Given the description of an element on the screen output the (x, y) to click on. 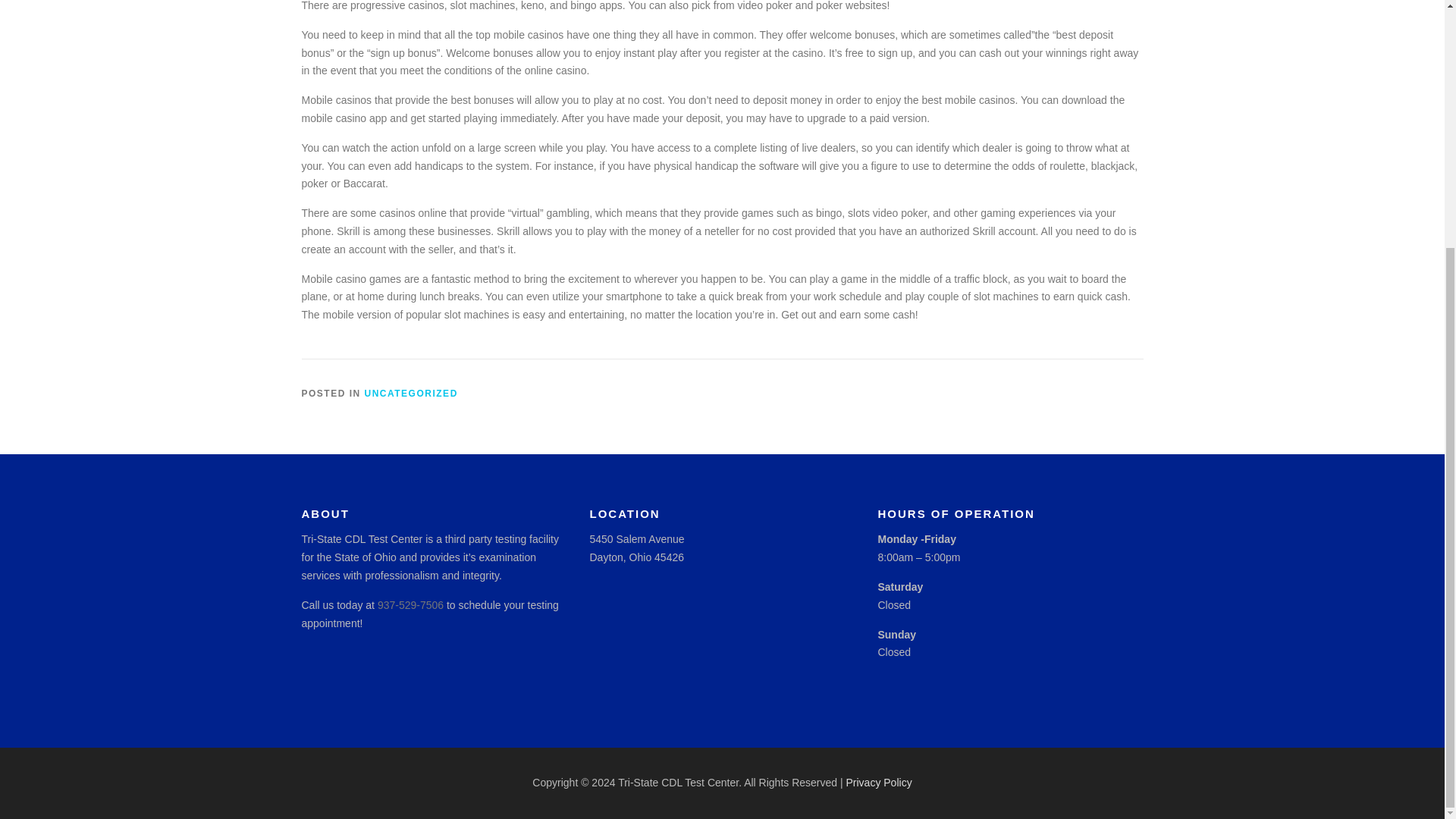
Privacy Policy (878, 782)
UNCATEGORIZED (411, 393)
937-529-7506 (410, 604)
